Given the description of an element on the screen output the (x, y) to click on. 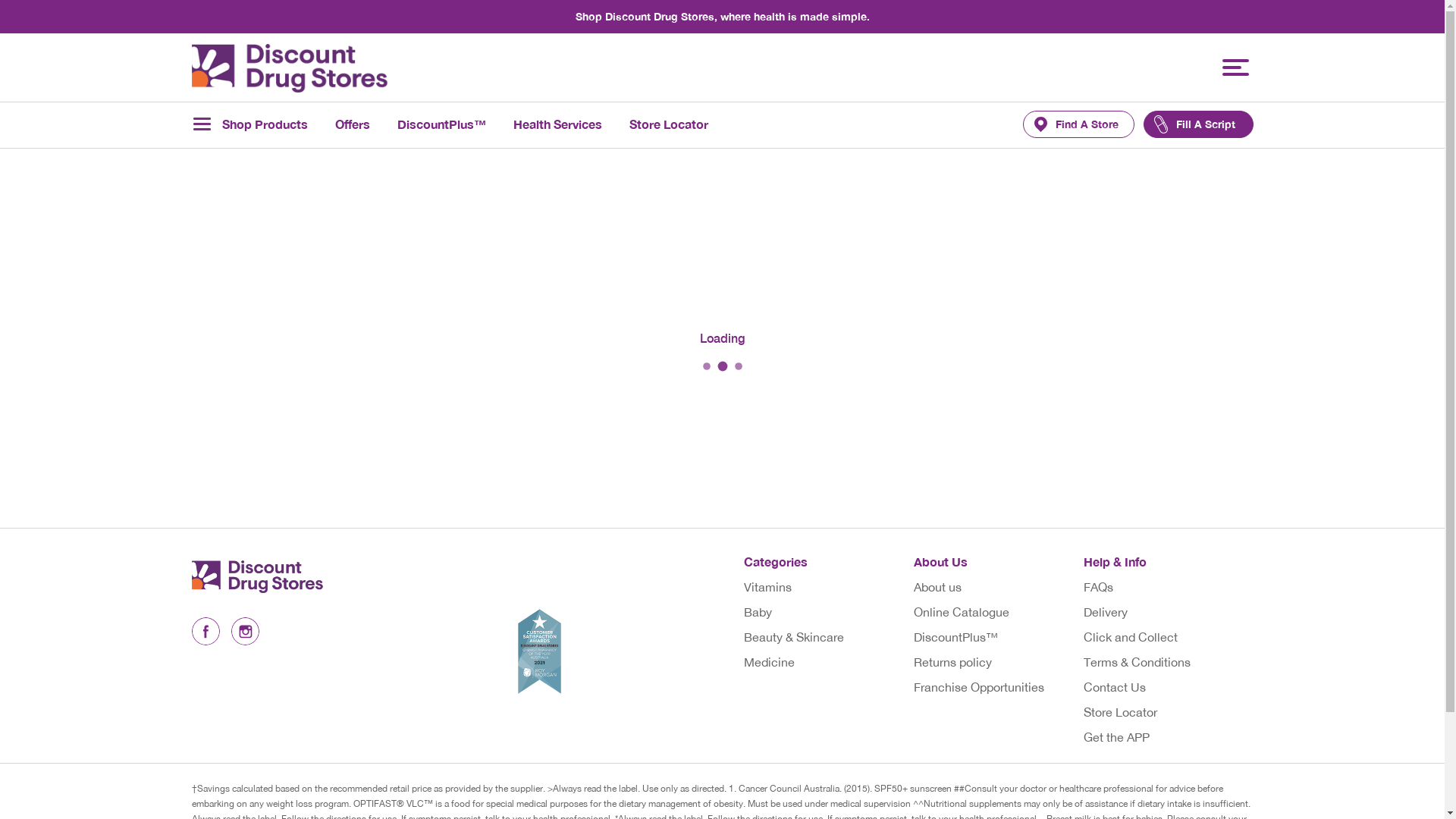
Vitamins Element type: text (766, 586)
Discount Drug Stores Element type: hover (270, 576)
Offers Element type: text (352, 124)
Returns policy Element type: text (952, 661)
FAQs Element type: text (1097, 586)
Health Services Element type: text (556, 124)
Get the APP Element type: text (1115, 736)
Discount Drug Stores Element type: hover (288, 67)
Franchise Opportunities Element type: text (978, 686)
Fill A Script Element type: text (1197, 124)
Store Locator Element type: text (1119, 711)
Facebook Element type: text (205, 631)
Baby Element type: text (757, 611)
Instagram Element type: text (244, 631)
Contact Us Element type: text (1113, 686)
Beauty & Skincare Element type: text (793, 636)
Shop Products Element type: text (249, 124)
Click and Collect Element type: text (1129, 636)
Online Catalogue Element type: text (960, 611)
About us Element type: text (936, 586)
Terms & Conditions Element type: text (1135, 661)
Delivery Element type: text (1104, 611)
Medicine Element type: text (768, 661)
Store Locator Element type: text (668, 124)
Find A Store Element type: text (1077, 124)
